Given the description of an element on the screen output the (x, y) to click on. 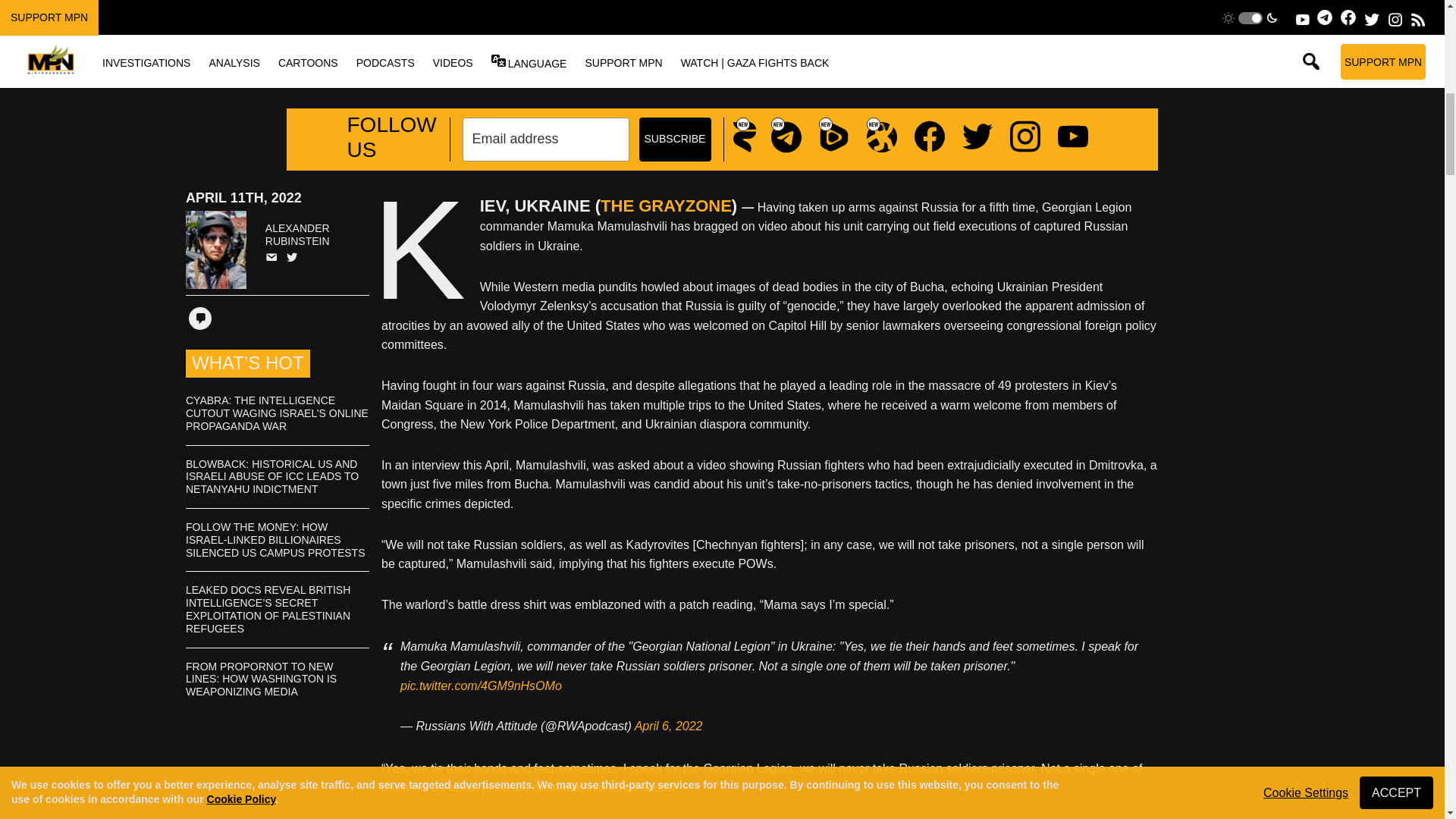
THE GRAYZONE (665, 205)
Subscribe (674, 139)
Subscribe (674, 139)
April 6, 2022 (668, 725)
